Given the description of an element on the screen output the (x, y) to click on. 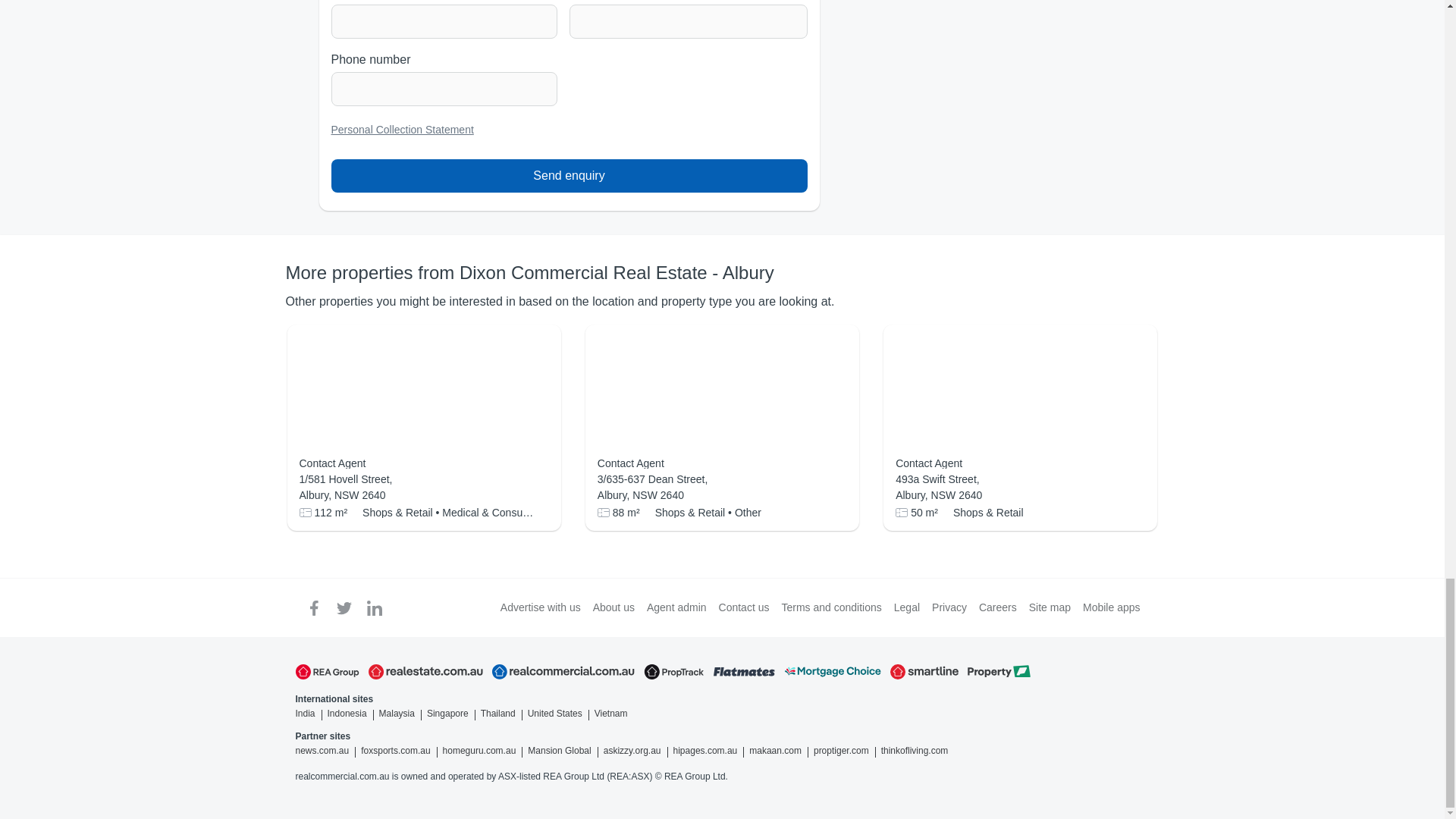
Agent administration (676, 607)
realestate.com.au: Real estate to buy and rent (425, 671)
realestate.com.au Twitter (343, 607)
Advertise with realcommercial.com.au (540, 607)
About realcommercial.com.au (613, 607)
493a Swift Street Albury, NSW 2640 (1019, 487)
realestate.com.au Facebook (313, 607)
REA Group corporate website (327, 671)
realestate.com.au LinkedIn (374, 607)
Contact realcommercial.com.au (744, 607)
